Given the description of an element on the screen output the (x, y) to click on. 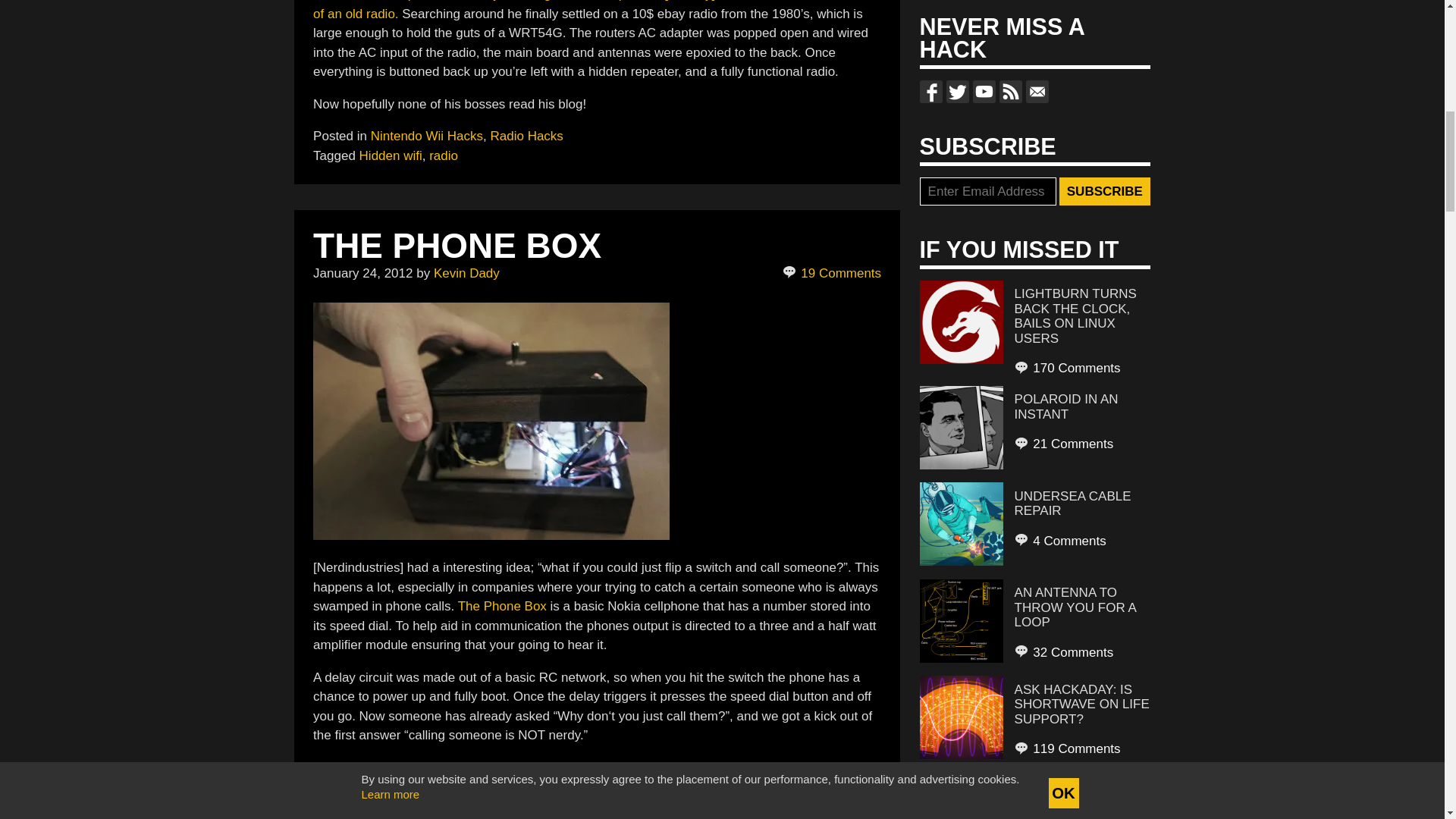
Hidden wifi (390, 155)
Posts by Kevin Dady (466, 273)
19 Comments (832, 273)
THE PHONE BOX (457, 245)
The Phone Box (504, 605)
Radio Hacks (525, 135)
Kevin Dady (466, 273)
radio (443, 155)
January 24, 2012 (362, 273)
Nintendo Wii Hacks (427, 135)
